Given the description of an element on the screen output the (x, y) to click on. 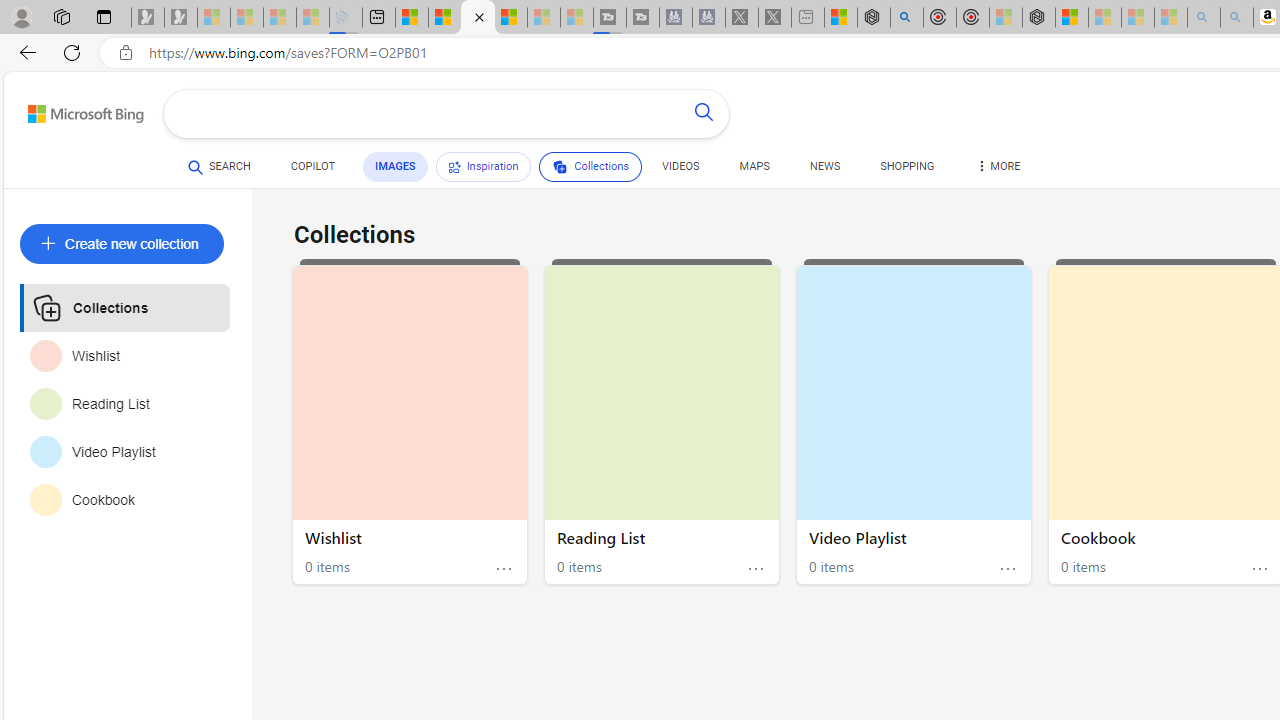
IMAGES (394, 166)
MAPS (754, 169)
NEWS (824, 166)
More actions for this saved result (1259, 569)
Inspiration (483, 166)
VIDEOS (679, 166)
Nordace - Nordace Siena Is Not An Ordinary Backpack (1038, 17)
SHOPPING (907, 169)
Inspiration (483, 166)
